Given the description of an element on the screen output the (x, y) to click on. 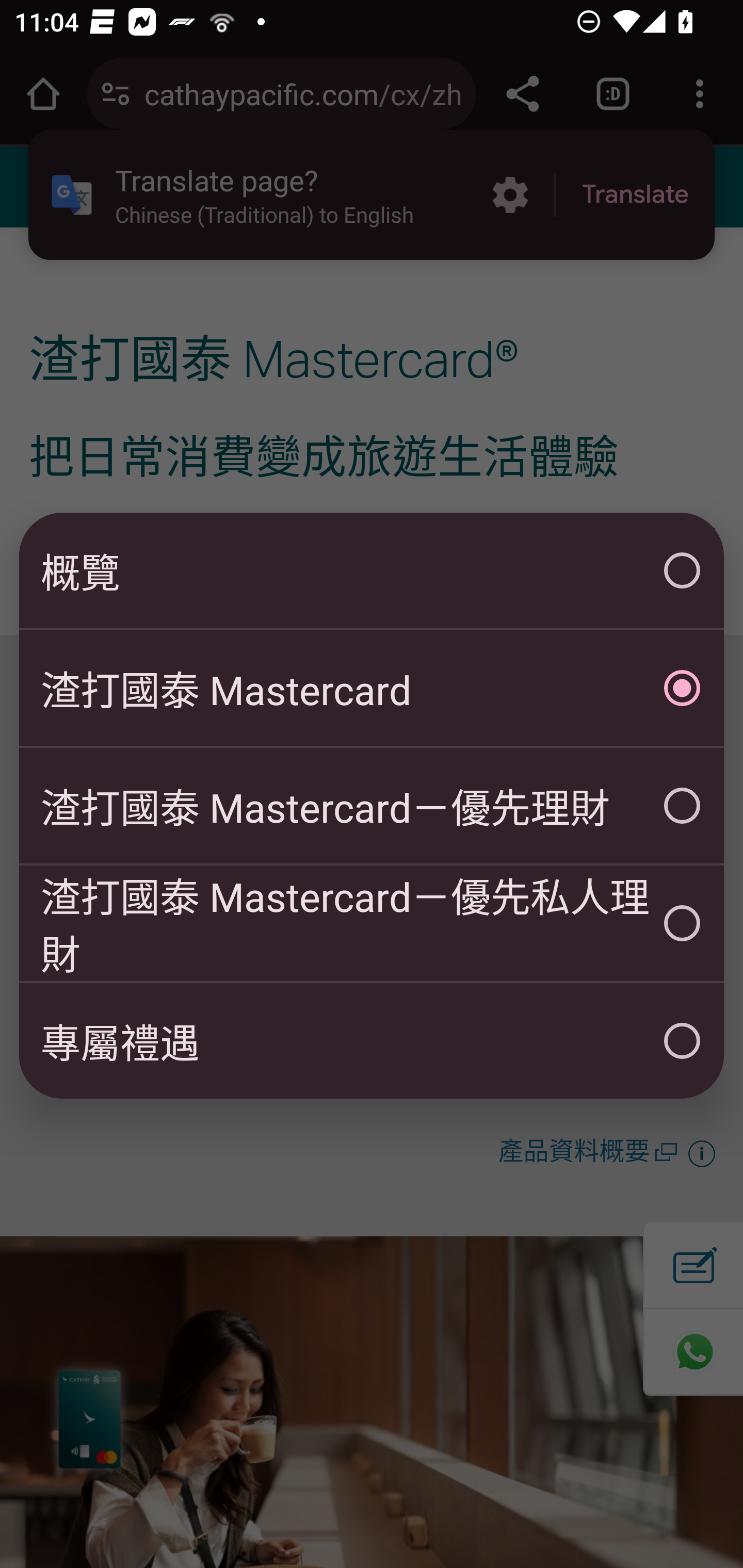
概覽 (371, 570)
渣打國泰 Mastercard (371, 688)
渣打國泰 Mastercard－優先理財 (371, 805)
渣打國泰 Mastercard－優先私人理財 (371, 923)
專屬禮遇 (371, 1041)
